Given the description of an element on the screen output the (x, y) to click on. 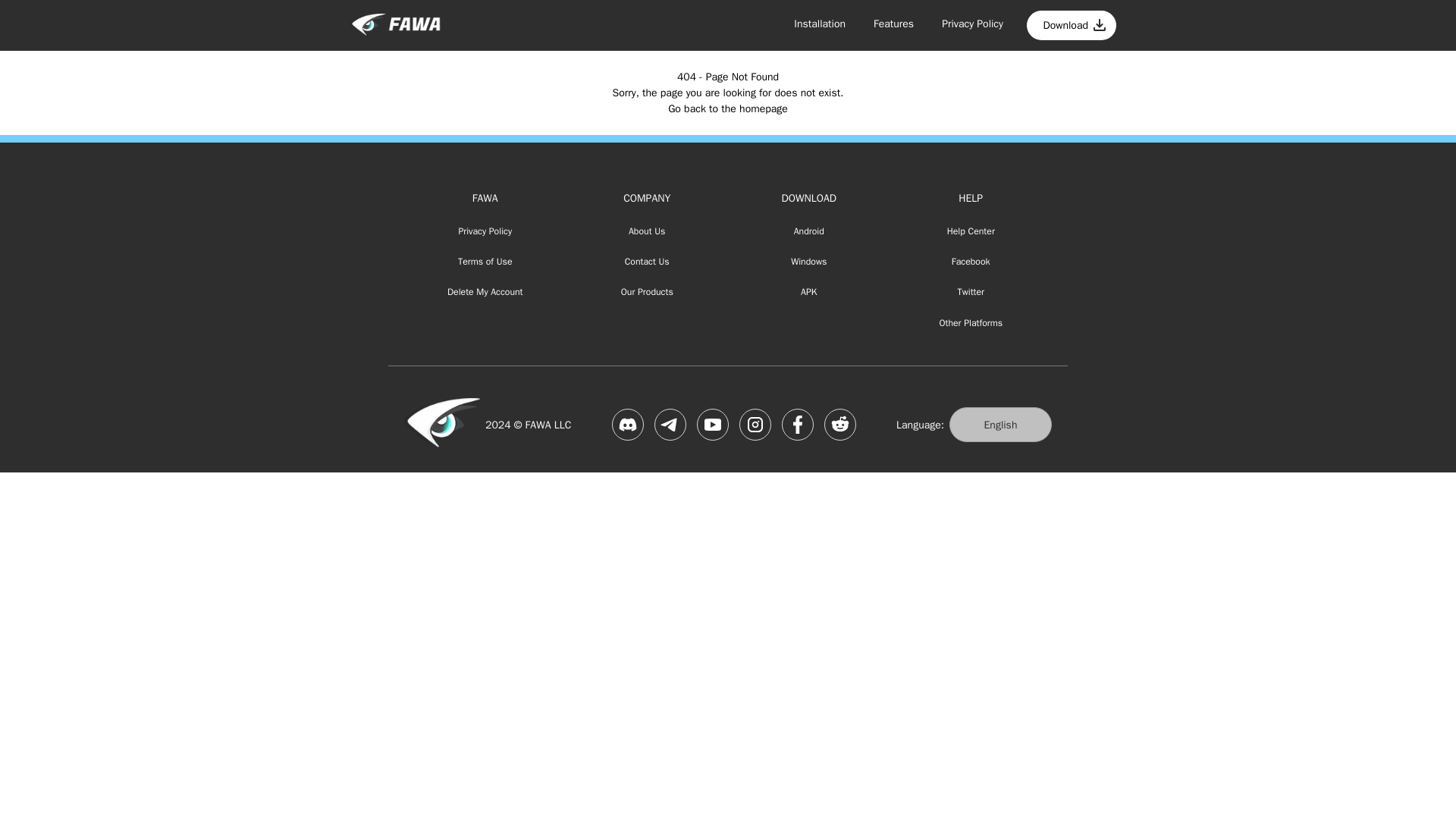
Go back to the homepage (727, 108)
Our Products (647, 292)
Delete My Account (484, 292)
About Us (647, 230)
Fawa - Home (395, 25)
Windows (809, 262)
Contact Us (647, 262)
Facebook (970, 262)
Other Platforms (970, 322)
Terms of Use (484, 262)
